Given the description of an element on the screen output the (x, y) to click on. 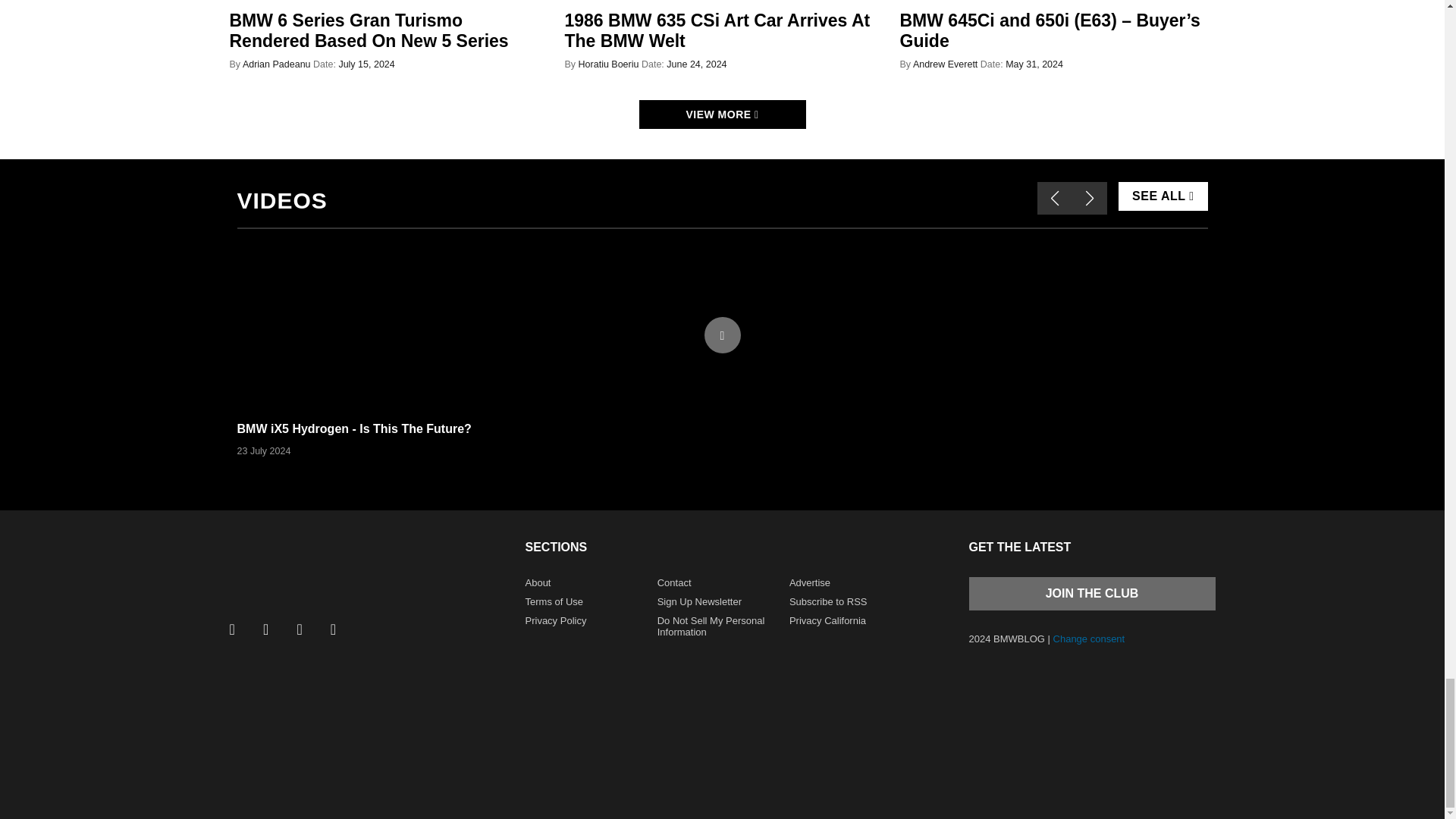
Join the club (1092, 593)
